Given the description of an element on the screen output the (x, y) to click on. 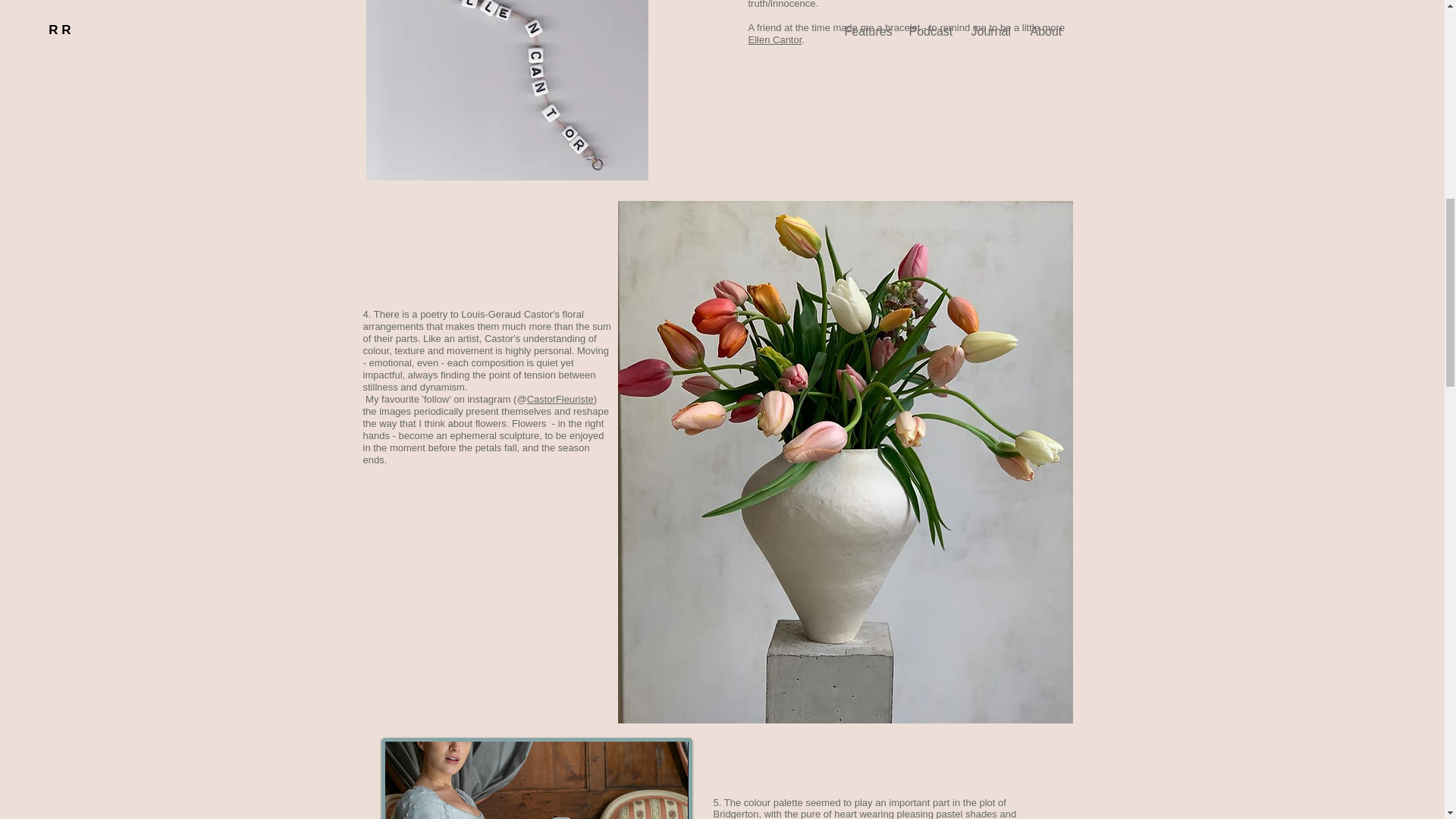
CastorFleuriste (560, 398)
Ellen Cantor (775, 39)
